Given the description of an element on the screen output the (x, y) to click on. 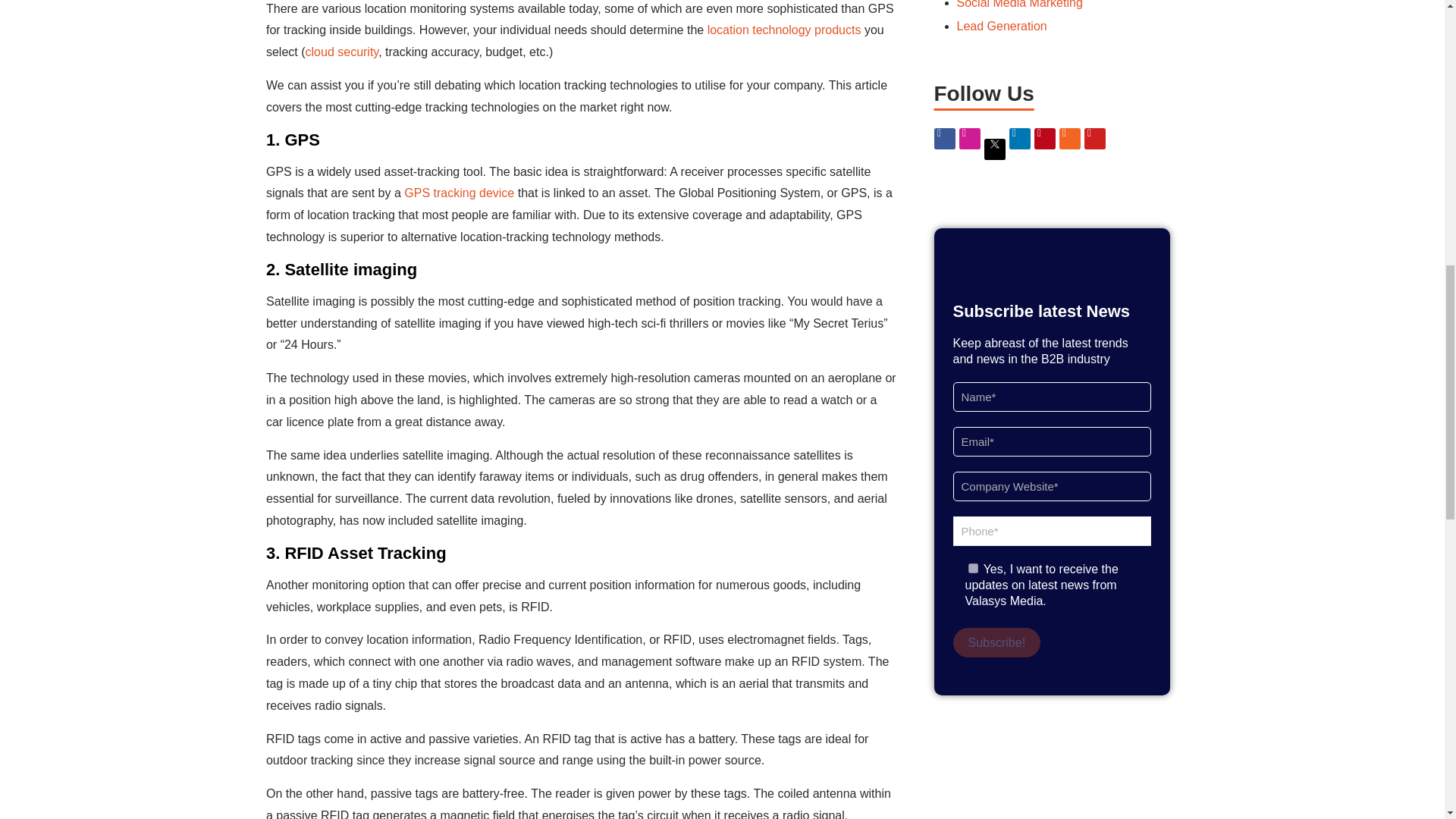
cloud security (341, 51)
GPS tracking device (458, 192)
Subscribe! (996, 642)
1 (972, 568)
location technology products (781, 29)
